Given the description of an element on the screen output the (x, y) to click on. 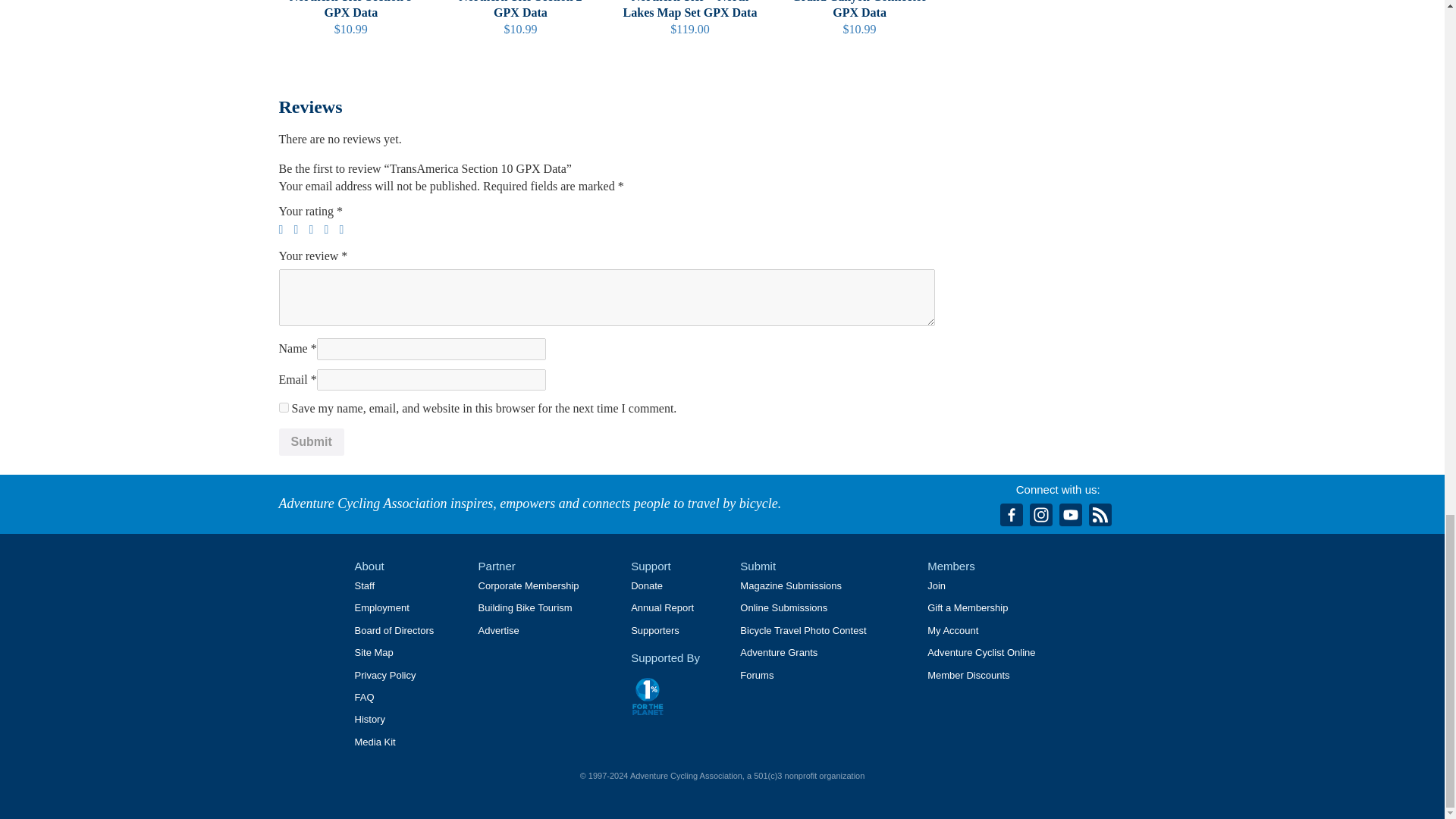
yes (283, 407)
Submit (311, 441)
